Given the description of an element on the screen output the (x, y) to click on. 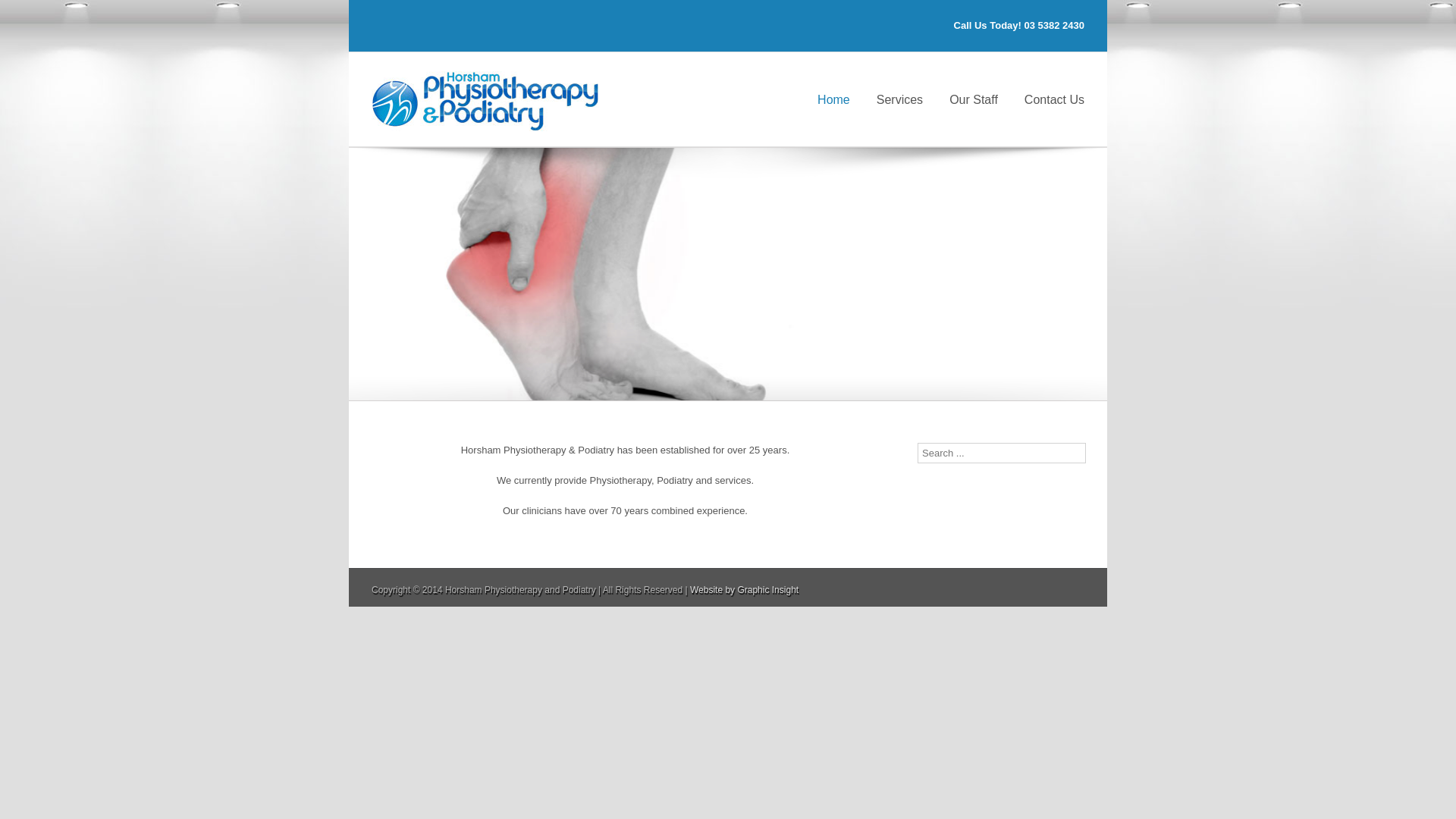
Services Element type: text (899, 98)
Contact Us Element type: text (1054, 98)
Website by Graphic Insight Element type: text (744, 589)
Our Staff Element type: text (973, 98)
Home Element type: text (833, 98)
